Given the description of an element on the screen output the (x, y) to click on. 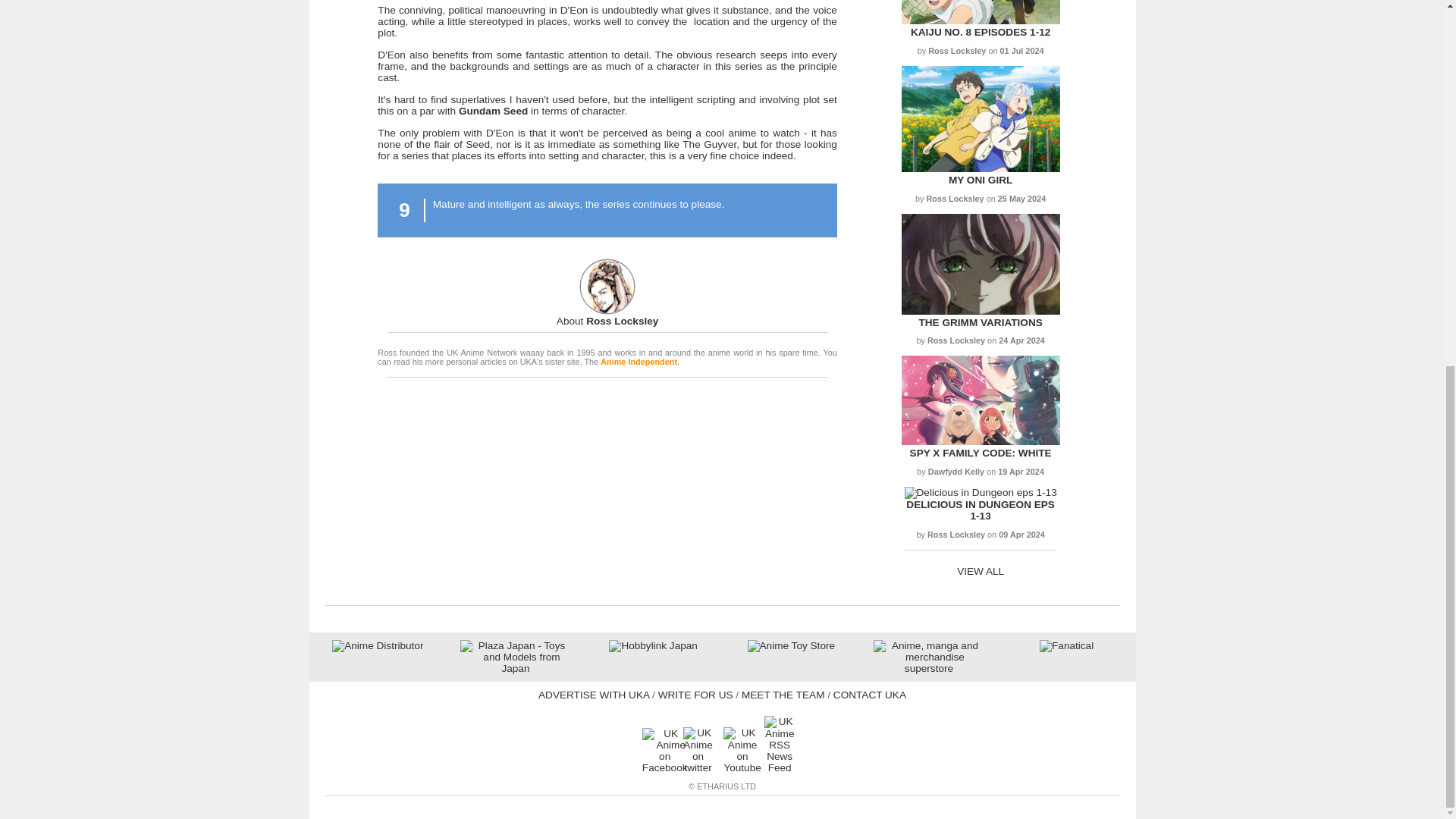
My Oni Girl (980, 168)
Spy X Family Code: White (980, 452)
VIEW ALL (980, 571)
My Oni Girl (980, 179)
Kaiju No. 8 Episodes 1-12 (980, 31)
The Grimm Variations (980, 322)
Ross Locksley (607, 320)
Anime Independent (638, 361)
The Grimm Variations (980, 310)
DELICIOUS IN DUNGEON EPS 1-13 (979, 509)
